Given the description of an element on the screen output the (x, y) to click on. 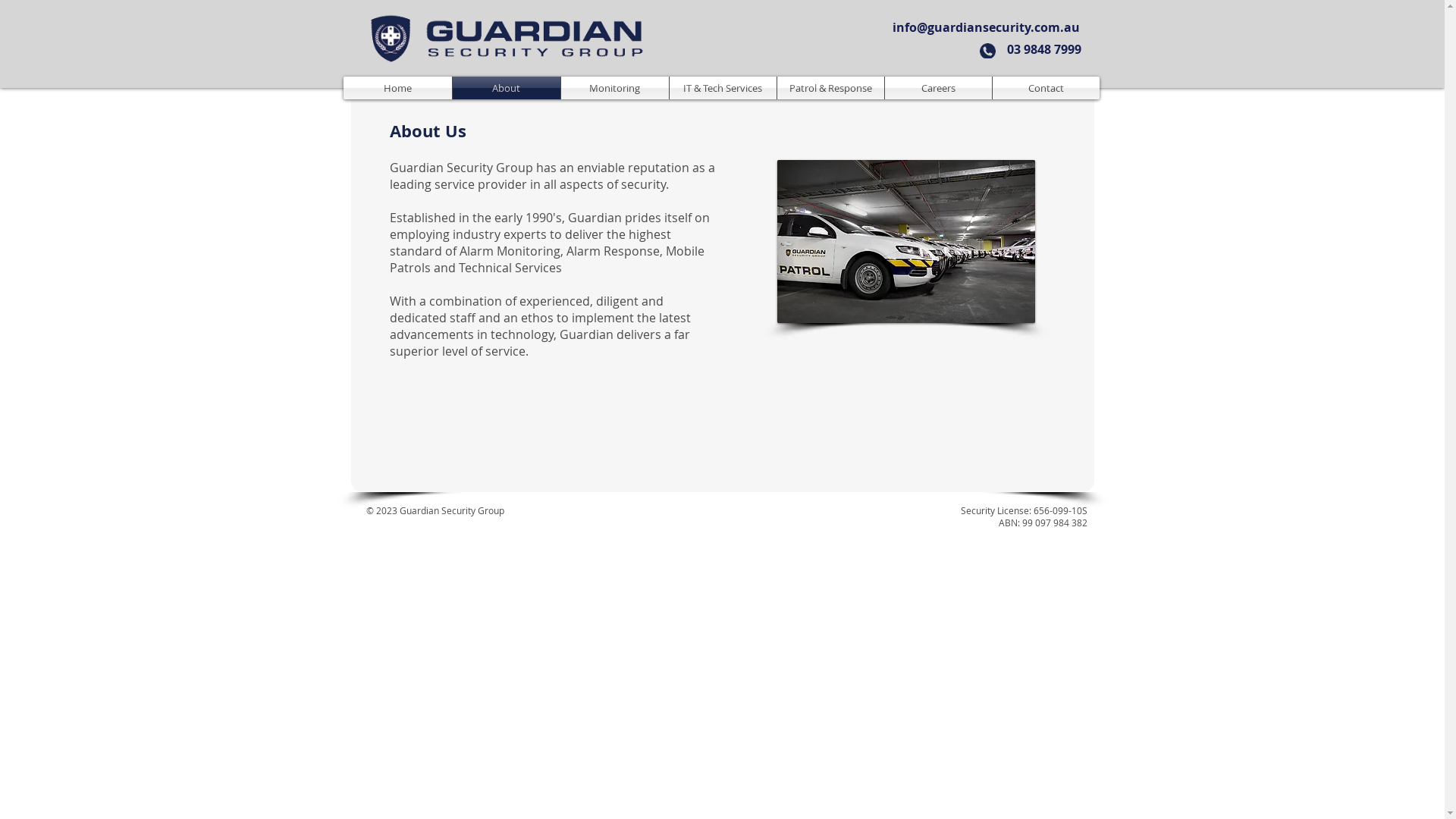
phone2.gif Element type: hover (987, 50)
Patrol & Response Element type: text (829, 87)
Careers Element type: text (937, 87)
About Element type: text (505, 87)
Contact Element type: text (1044, 87)
info@guardiansecurity.com.au Element type: text (985, 26)
and Technical Services Element type: text (495, 267)
Monitoring Element type: text (614, 87)
Home Element type: text (396, 87)
IT & Tech Services Element type: text (721, 87)
 03 9848 7999 Element type: text (1042, 48)
Alarm Monitoring, Alarm Response, Element type: text (562, 250)
Mobile Patrols Element type: text (546, 259)
